Given the description of an element on the screen output the (x, y) to click on. 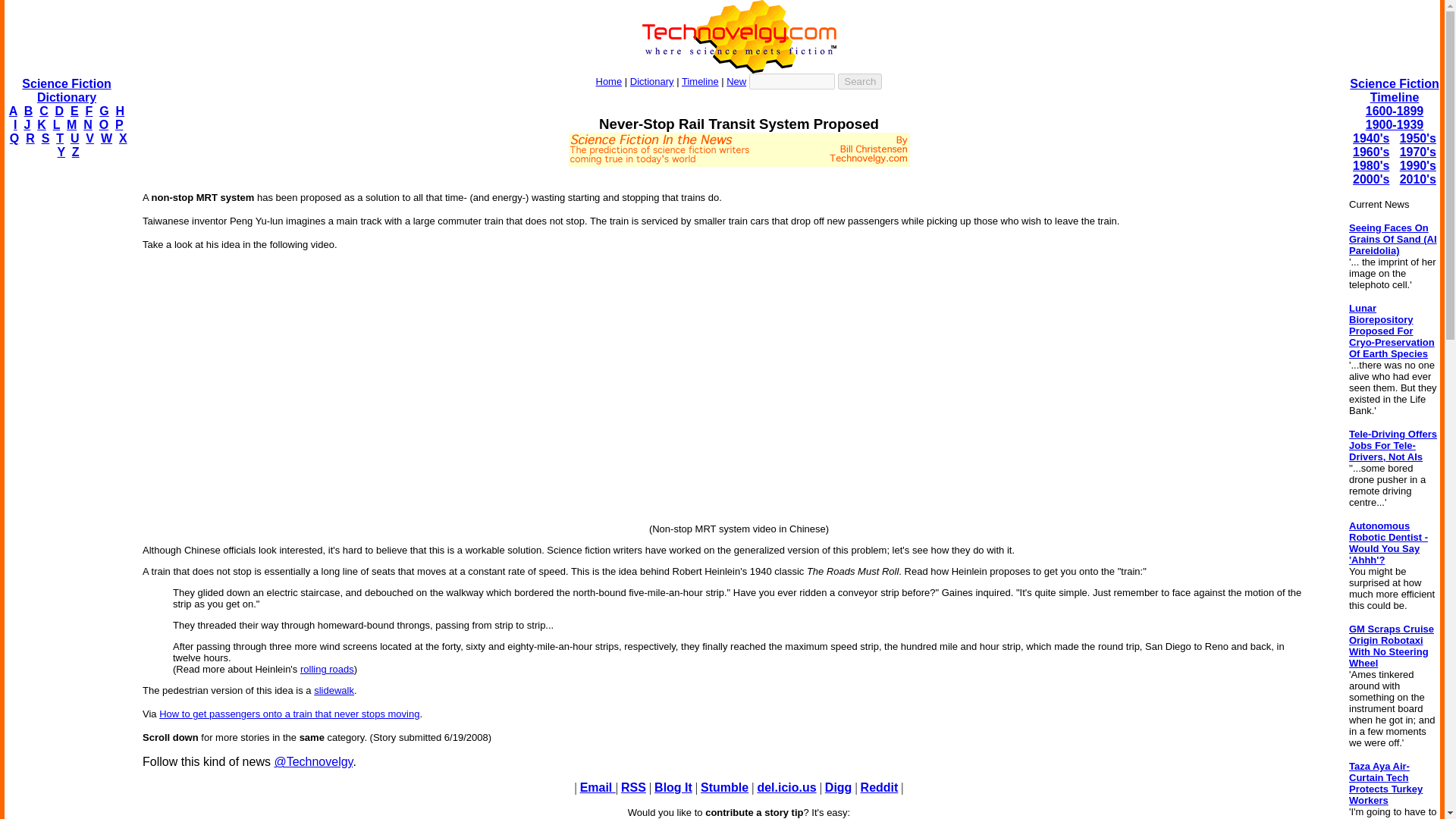
Email (597, 787)
Home (609, 81)
New (735, 81)
slidewalk (333, 690)
Blog It (673, 787)
How to get passengers onto a train that never stops moving (288, 713)
Timeline (700, 81)
Advertisement (737, 172)
rolling roads (326, 668)
Science Fiction Dictionary (65, 90)
